Given the description of an element on the screen output the (x, y) to click on. 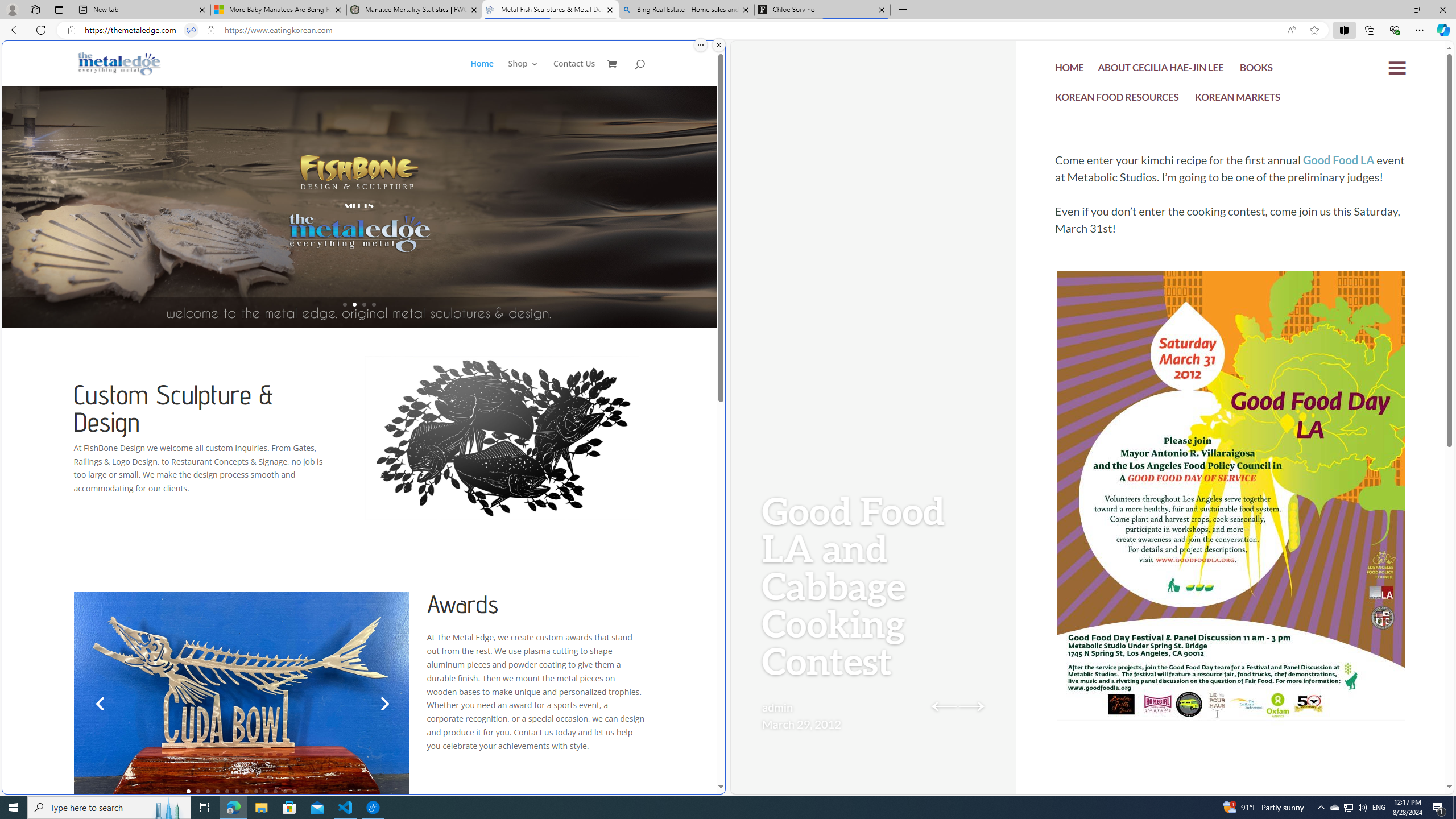
good food la poster (1230, 530)
2 (198, 790)
Chloe Sorvino (822, 9)
Tabs in split screen (190, 29)
Metal Fish Sculptures & Metal Designs (119, 63)
BOOKS (1256, 68)
More options. (700, 45)
7 (246, 790)
